Given the description of an element on the screen output the (x, y) to click on. 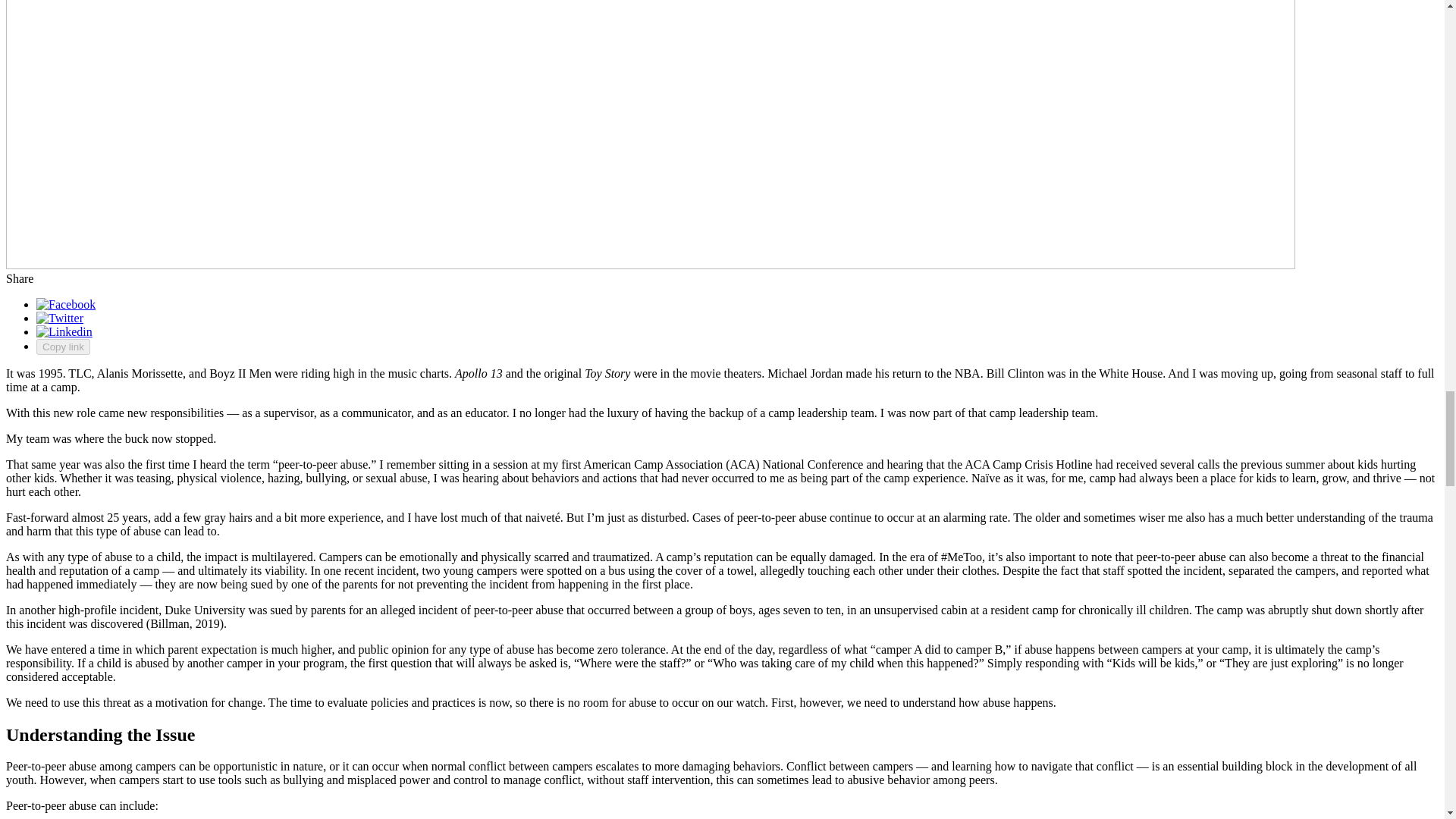
Linkedin (64, 331)
Twitter (59, 318)
Facebook (66, 304)
Copy link (63, 346)
